Given the description of an element on the screen output the (x, y) to click on. 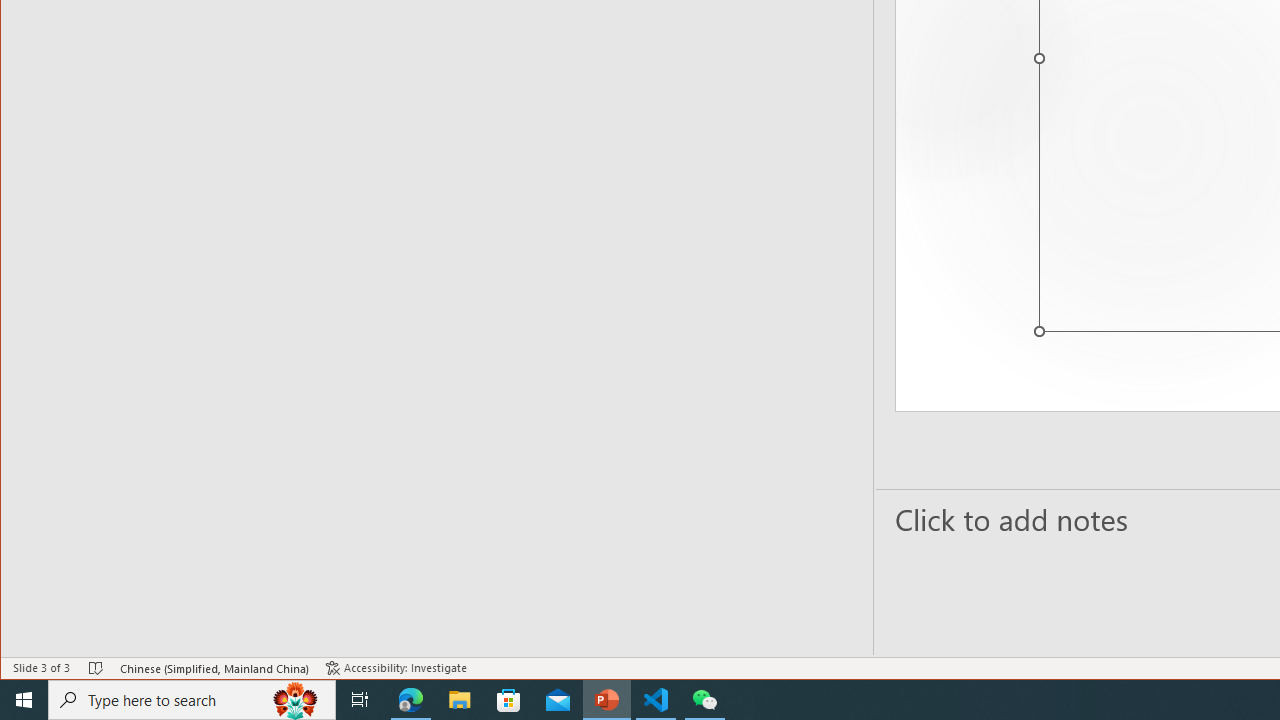
WeChat - 1 running window (704, 699)
Microsoft Edge - 1 running window (411, 699)
